Given the description of an element on the screen output the (x, y) to click on. 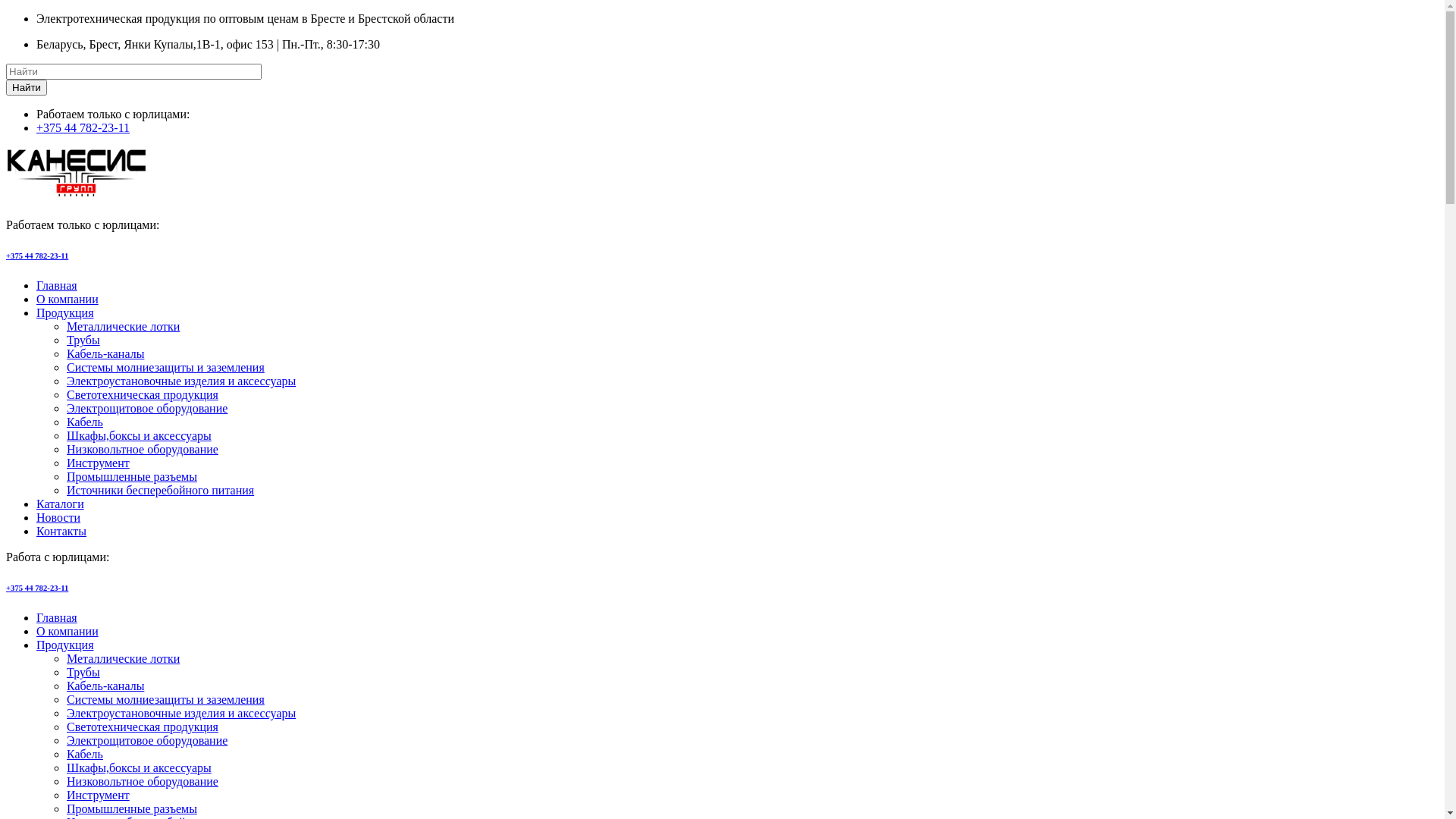
+375 44 782-23-11 Element type: text (82, 127)
+375 44 782-23-11 Element type: text (37, 255)
+375 44 782-23-11 Element type: text (37, 587)
